Given the description of an element on the screen output the (x, y) to click on. 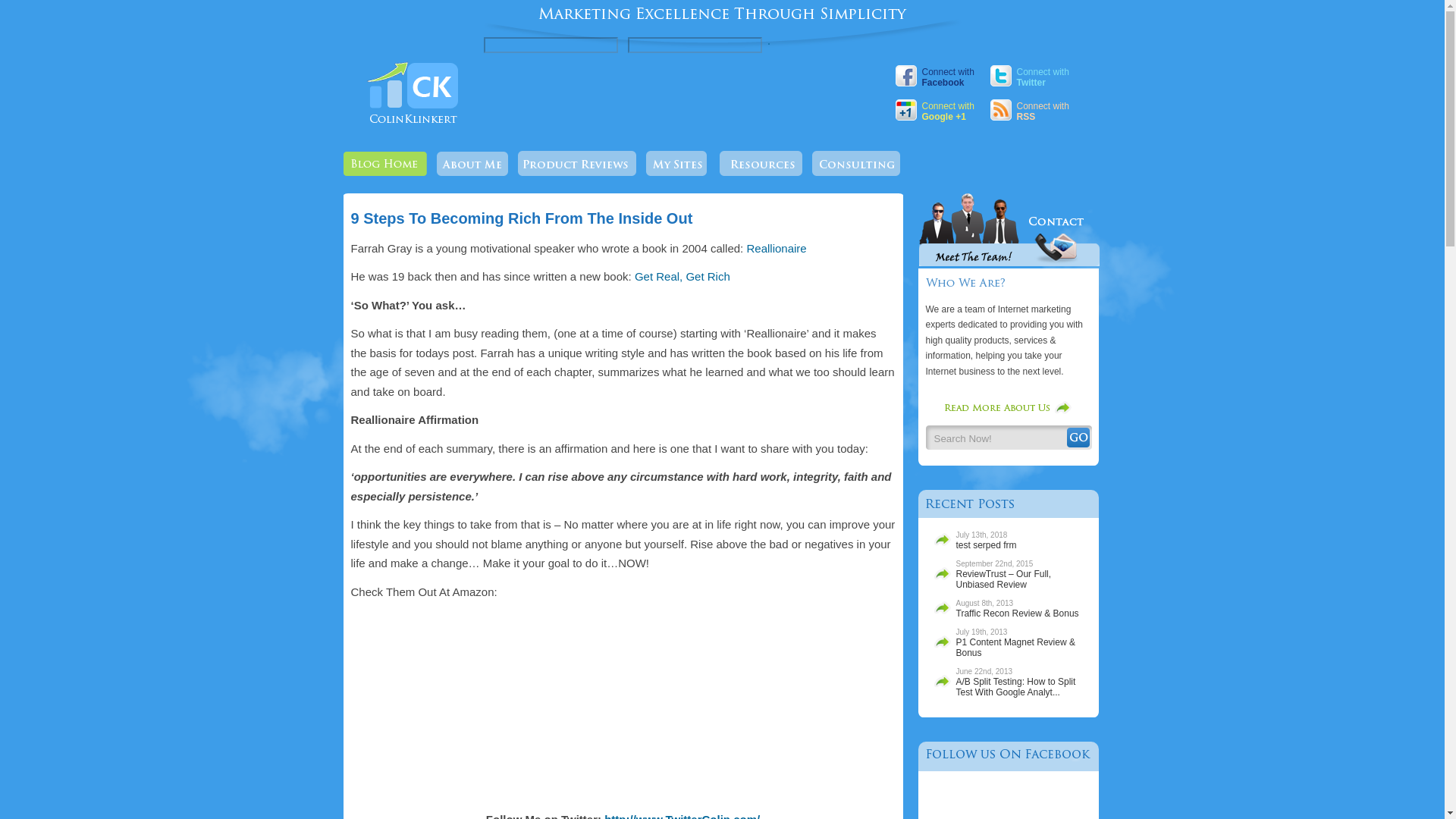
Get Real, Get Rich (682, 276)
Search Now! (995, 438)
9 Steps To Becoming Rich From The Inside Out (1042, 110)
Reallionaire (521, 217)
Colin Klinkert Dot Com (775, 246)
Reallionaire (413, 125)
Permalink to 9 Steps To Becoming Rich From The Inside Out (775, 246)
